Given the description of an element on the screen output the (x, y) to click on. 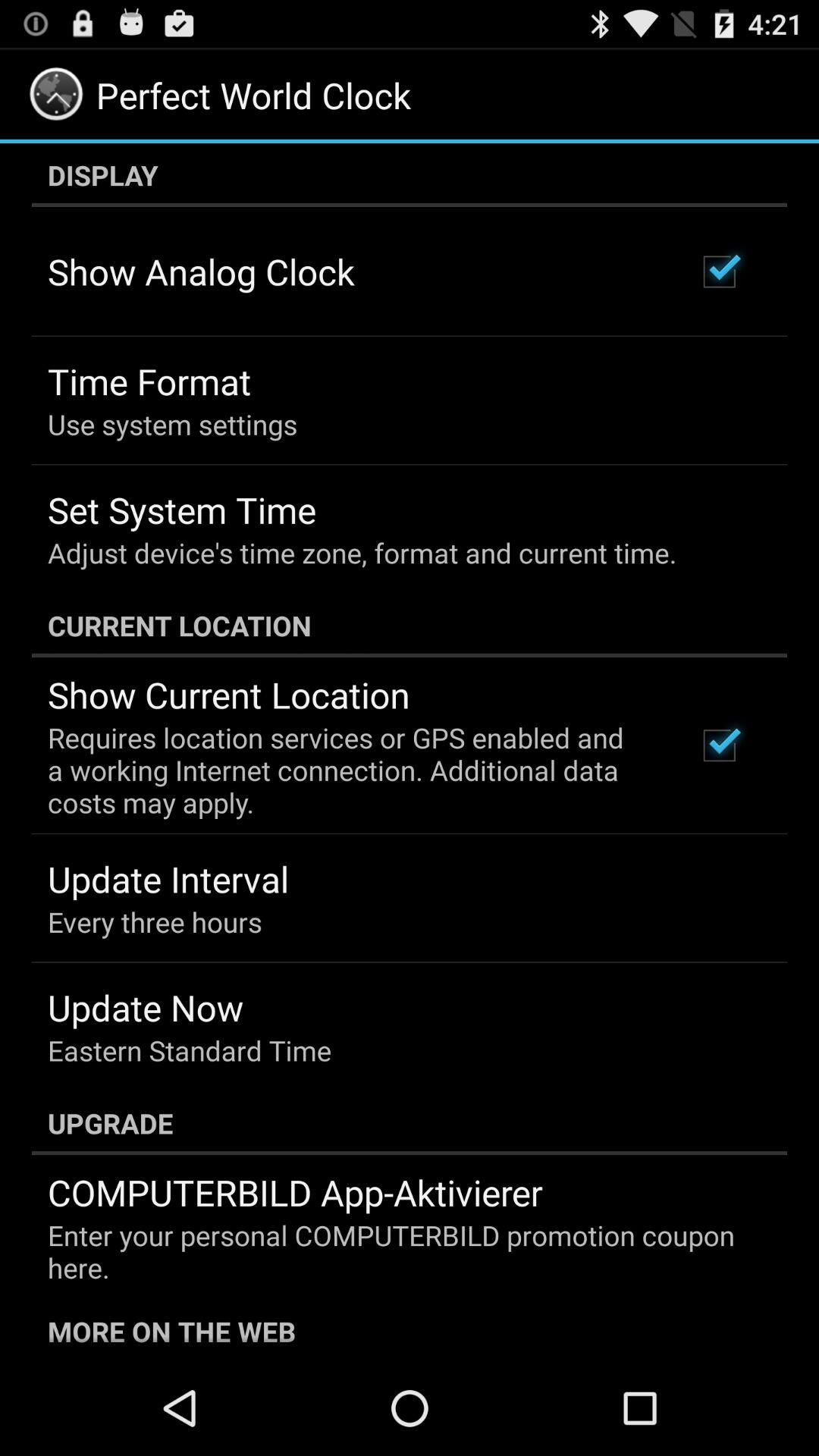
launch the icon below enter your personal (409, 1329)
